Given the description of an element on the screen output the (x, y) to click on. 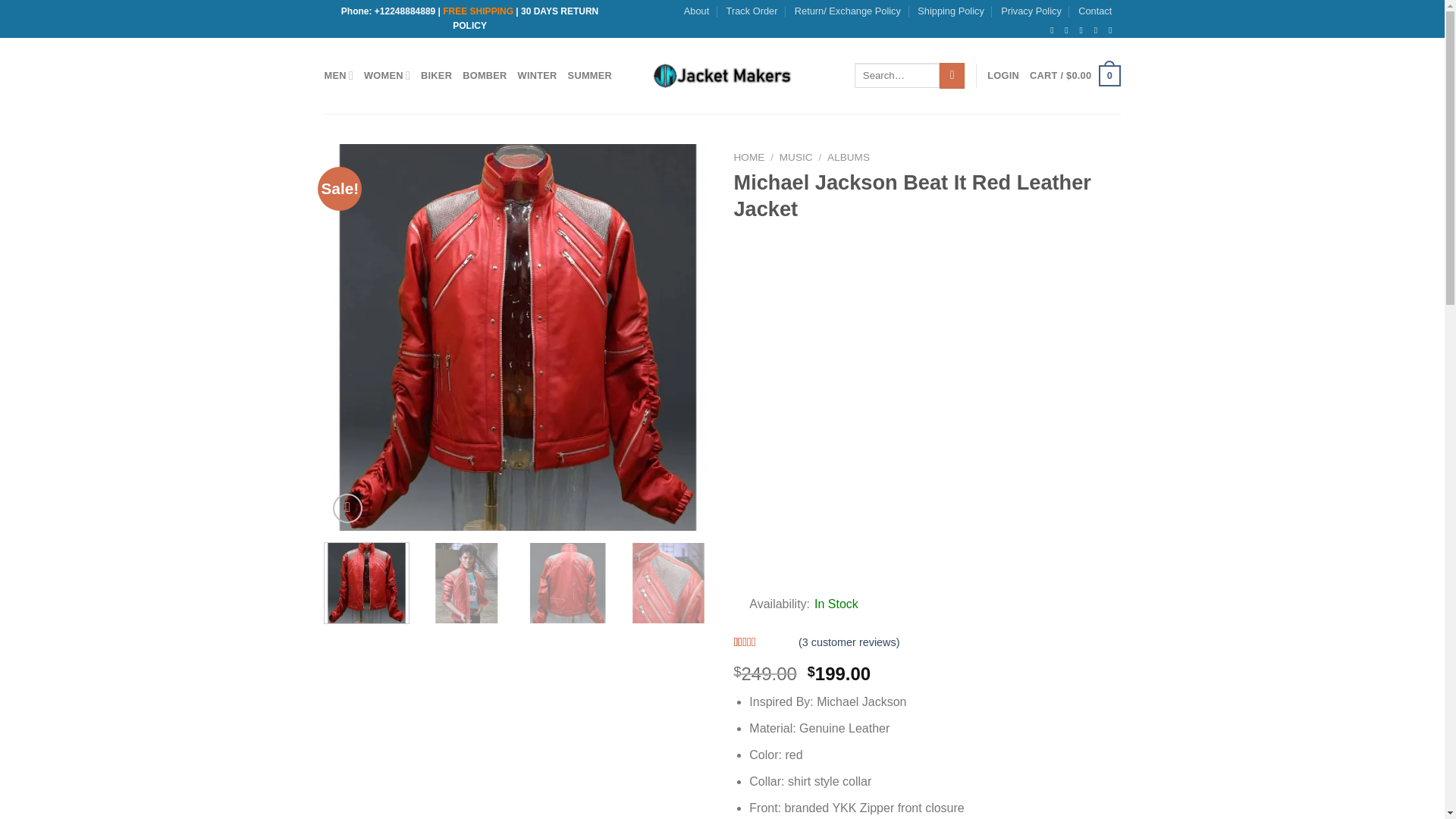
Shipping Policy (950, 11)
Contact (1095, 11)
Cart (1074, 75)
MEN (338, 75)
Privacy Policy (1031, 11)
Track Order (751, 11)
About (696, 11)
